Given the description of an element on the screen output the (x, y) to click on. 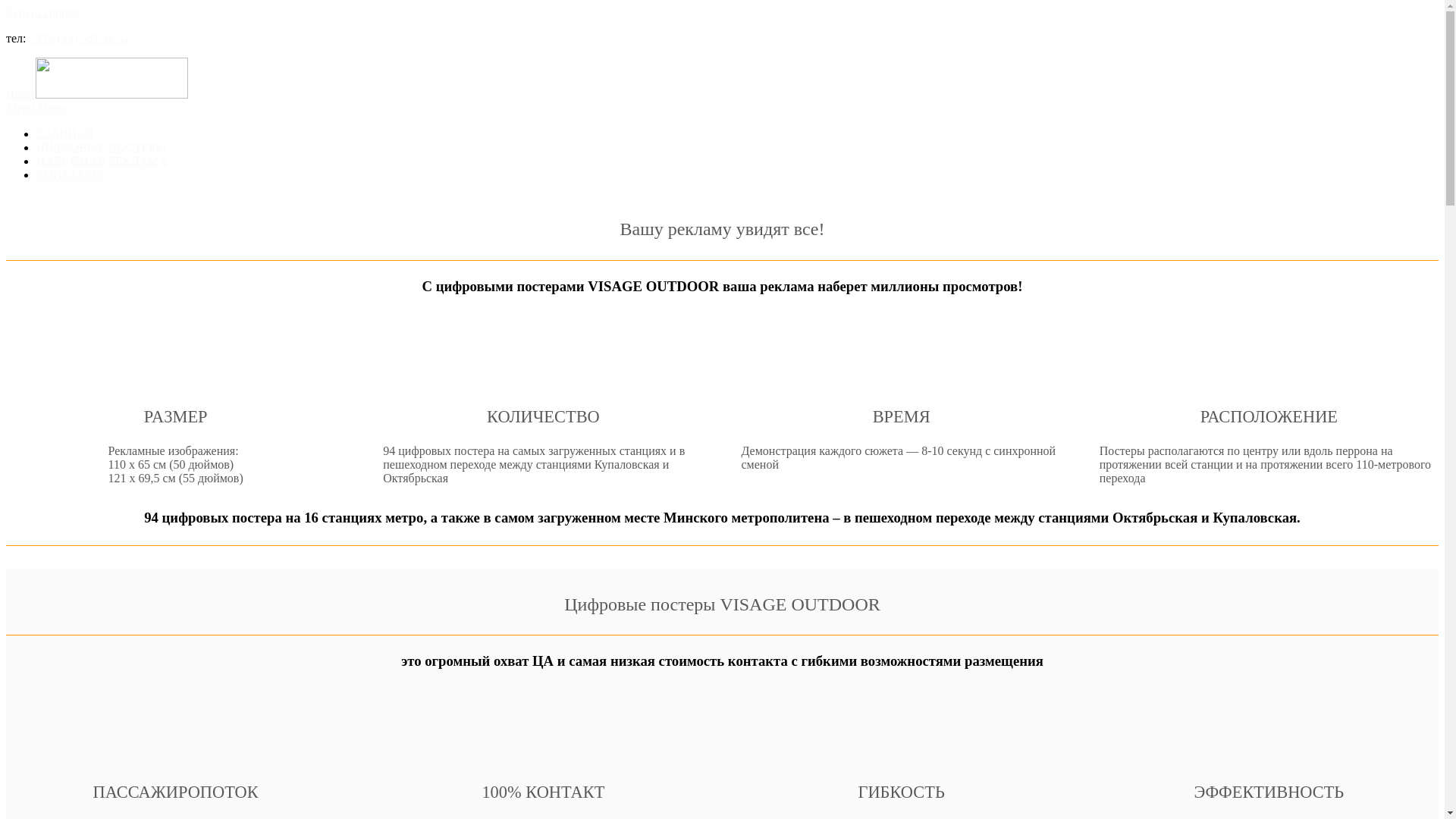
Skip to content Element type: text (42, 12)
Menu Menu Element type: text (722, 107)
+375 (44) 557 51 52 Element type: text (79, 37)
Home Element type: text (97, 93)
